Given the description of an element on the screen output the (x, y) to click on. 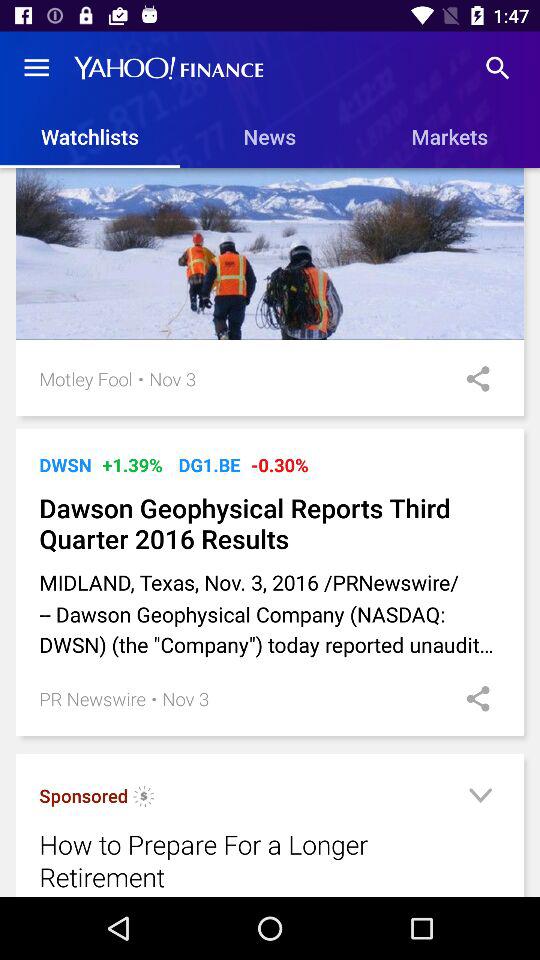
turn off icon to the right of the how to prepare item (480, 798)
